Given the description of an element on the screen output the (x, y) to click on. 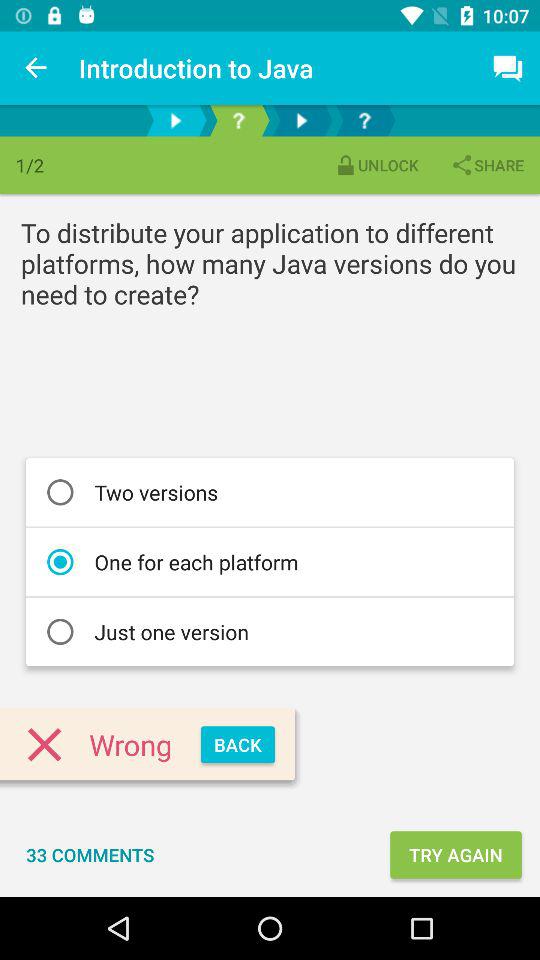
press item to the right of wrong item (237, 744)
